Given the description of an element on the screen output the (x, y) to click on. 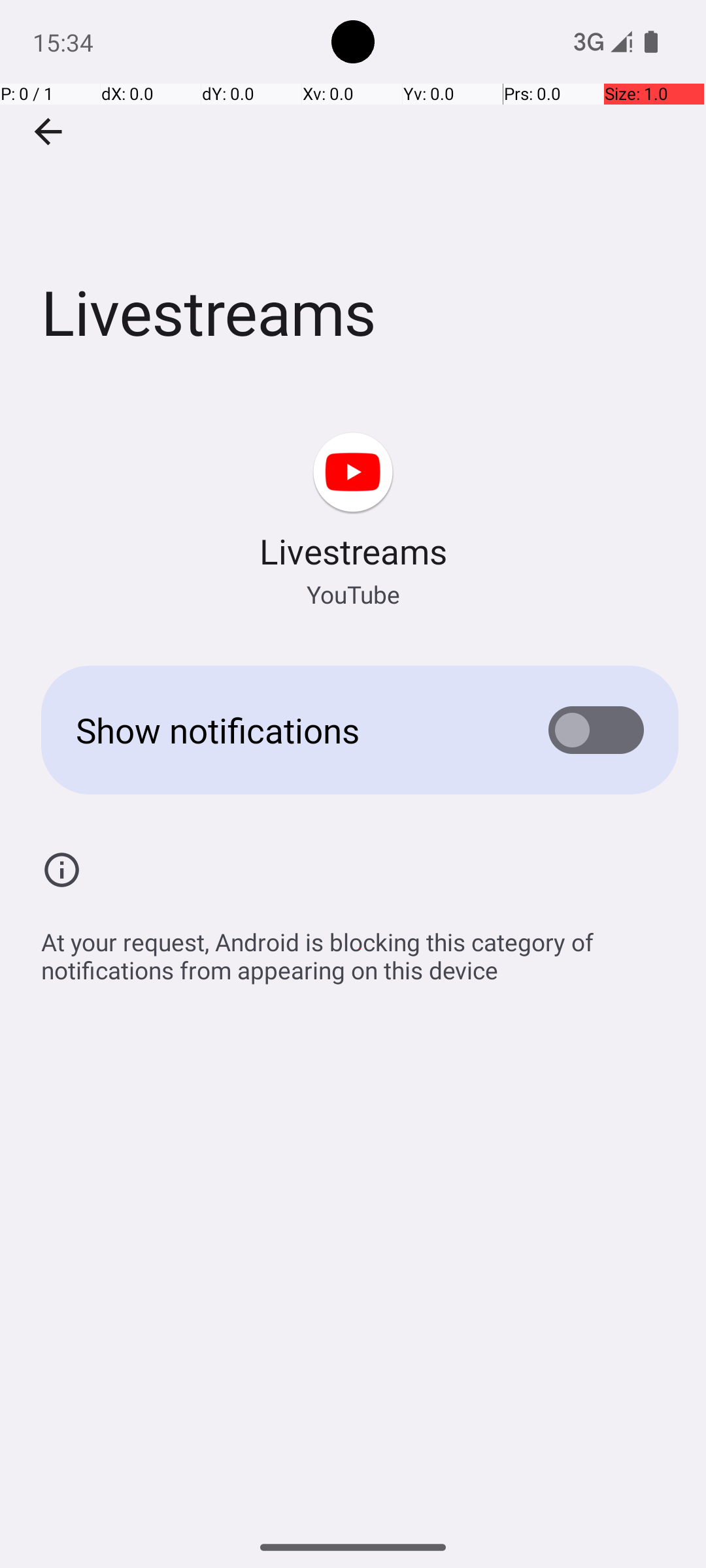
Livestreams Element type: android.widget.FrameLayout (353, 195)
Show notifications Element type: android.widget.TextView (291, 729)
At your request, Android is blocking this category of notifications from appearing on this device Element type: android.widget.TextView (359, 948)
